Given the description of an element on the screen output the (x, y) to click on. 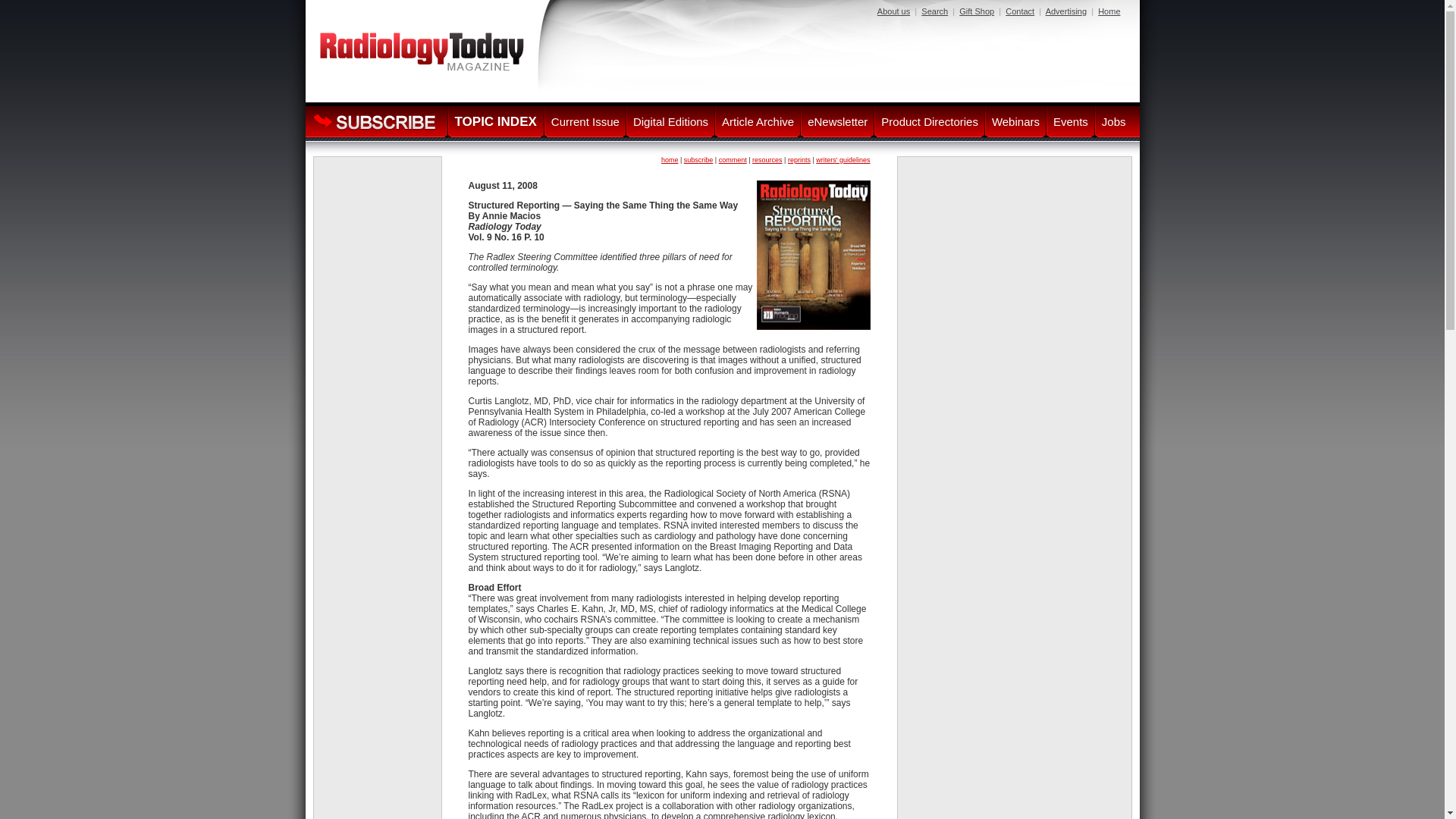
subscribe (698, 159)
writers' guidelines (842, 159)
Digital Editions (670, 121)
3rd party ad content (377, 206)
Product Directories (930, 121)
Search (934, 10)
Home (1108, 10)
Gift Shop (976, 10)
eNewsletter (837, 121)
3rd party ad content (377, 766)
